Given the description of an element on the screen output the (x, y) to click on. 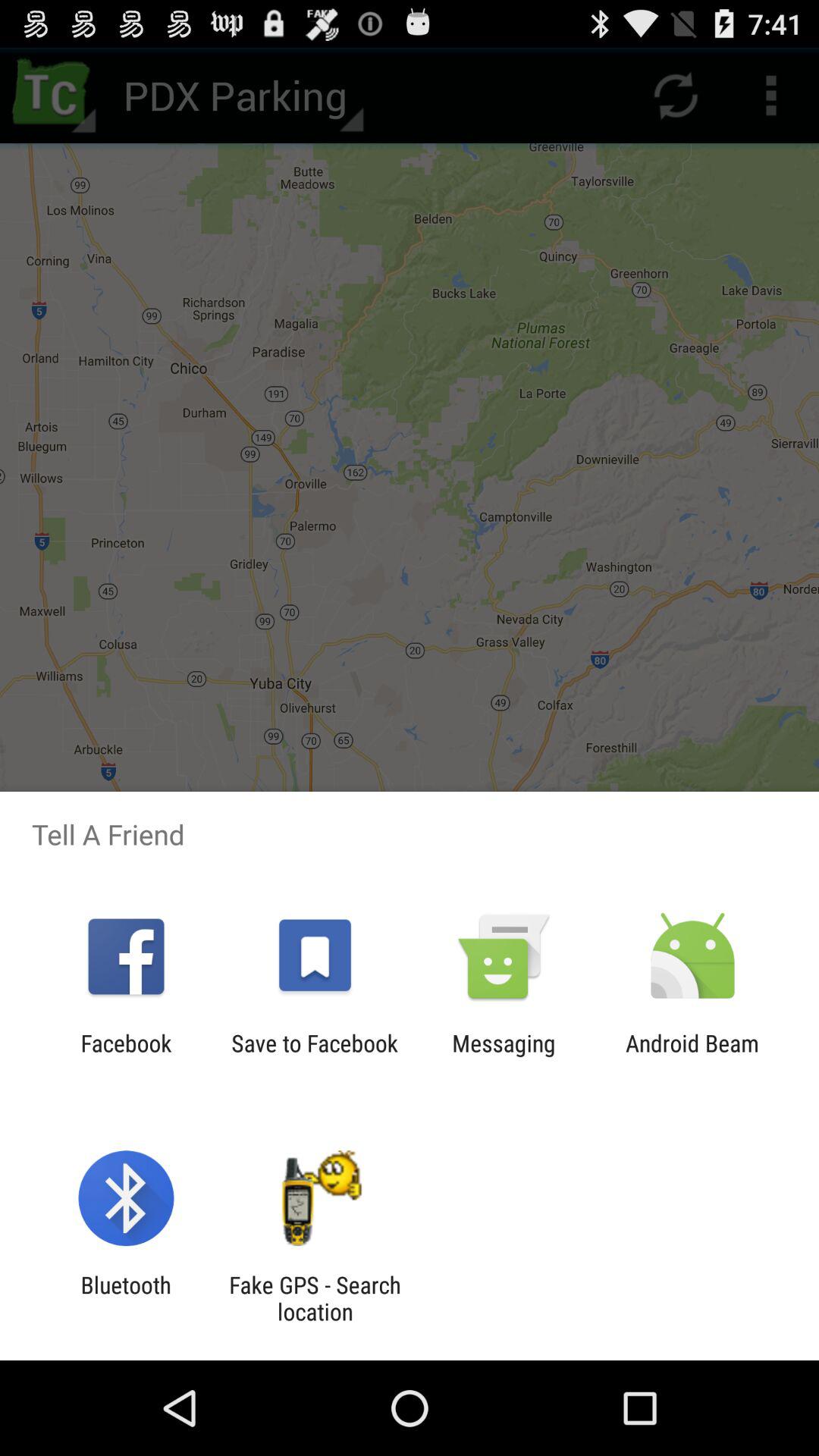
jump to android beam item (692, 1056)
